Given the description of an element on the screen output the (x, y) to click on. 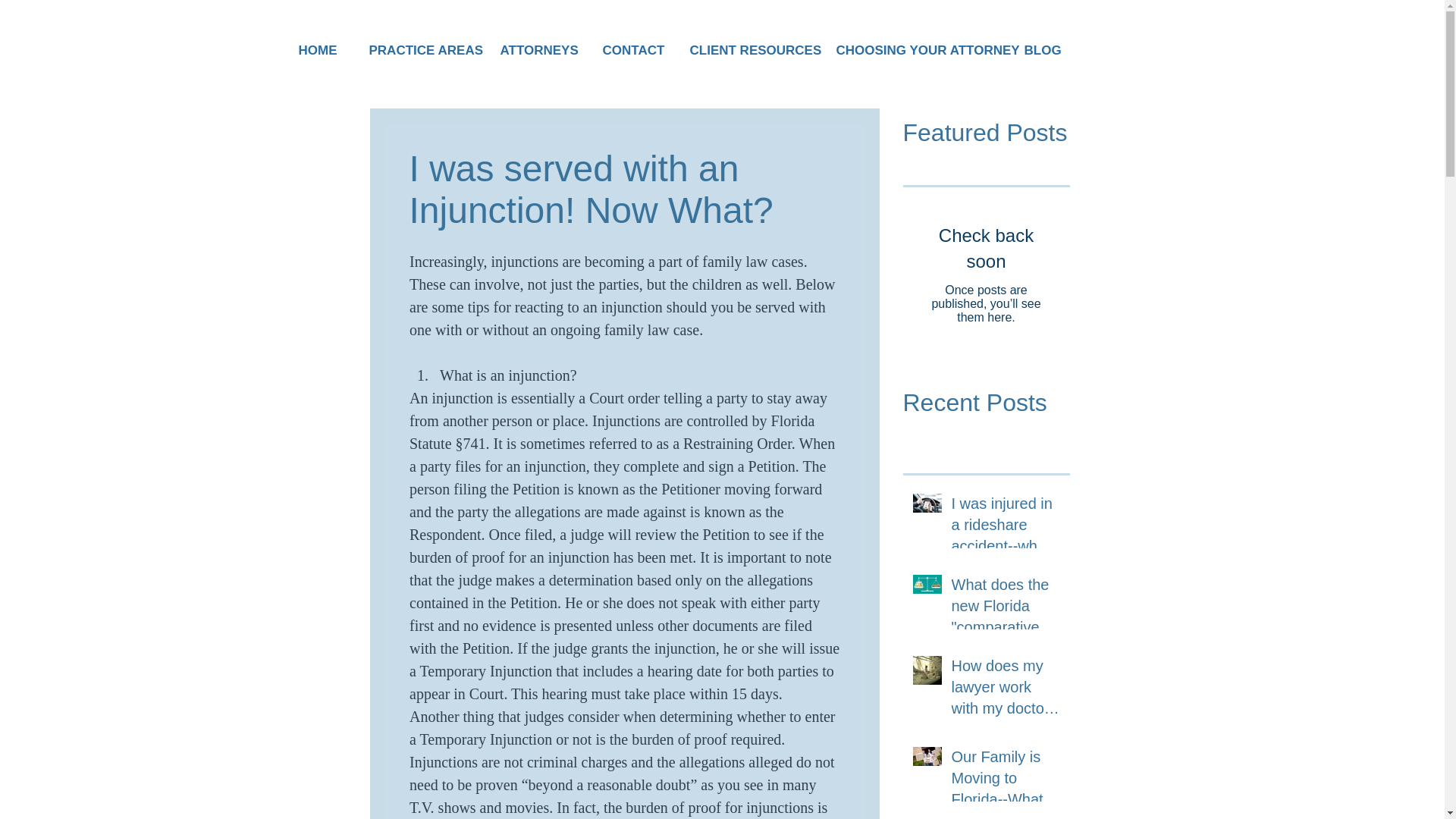
PRACTICE AREAS (415, 50)
CONTACT (627, 50)
CHOOSING YOUR ATTORNEY (911, 50)
HOME (314, 50)
I was injured in a rideshare accident--what do I do? (1004, 527)
BLOG (1039, 50)
ATTORNEYS (531, 50)
CLIENT RESOURCES (742, 50)
